Given the description of an element on the screen output the (x, y) to click on. 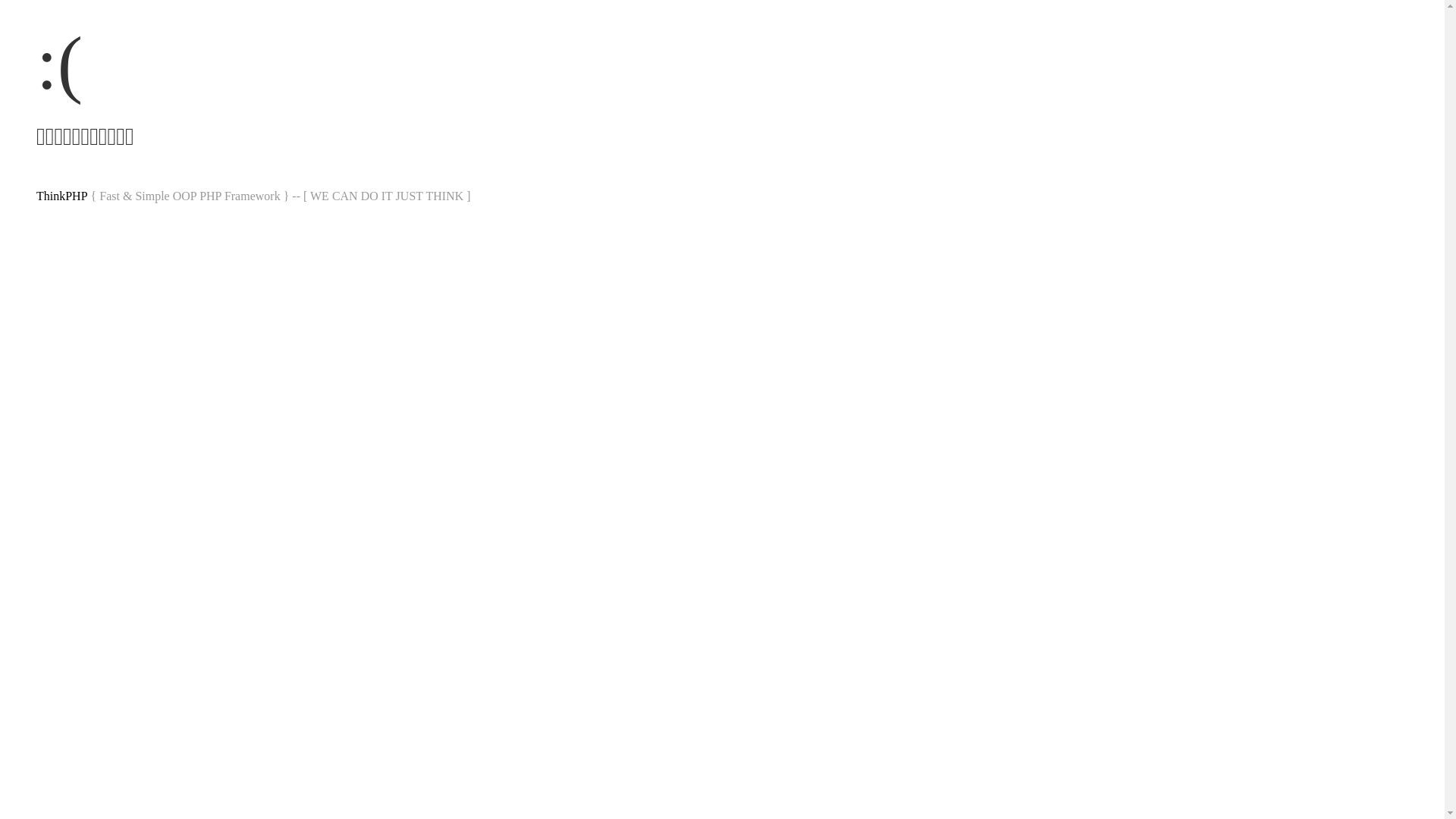
ThinkPHP Element type: text (61, 195)
